Given the description of an element on the screen output the (x, y) to click on. 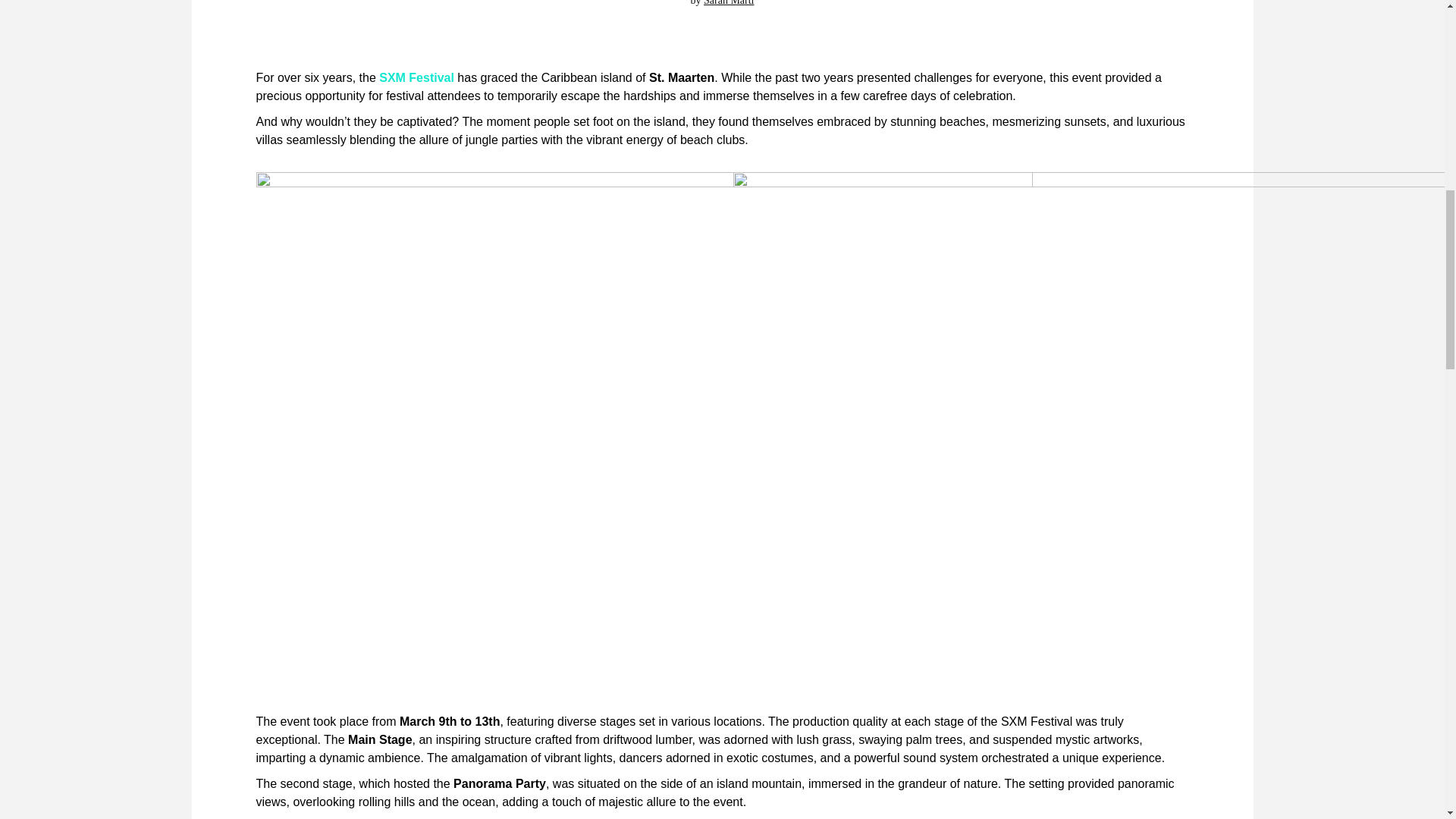
SXM Festival (416, 77)
